Given the description of an element on the screen output the (x, y) to click on. 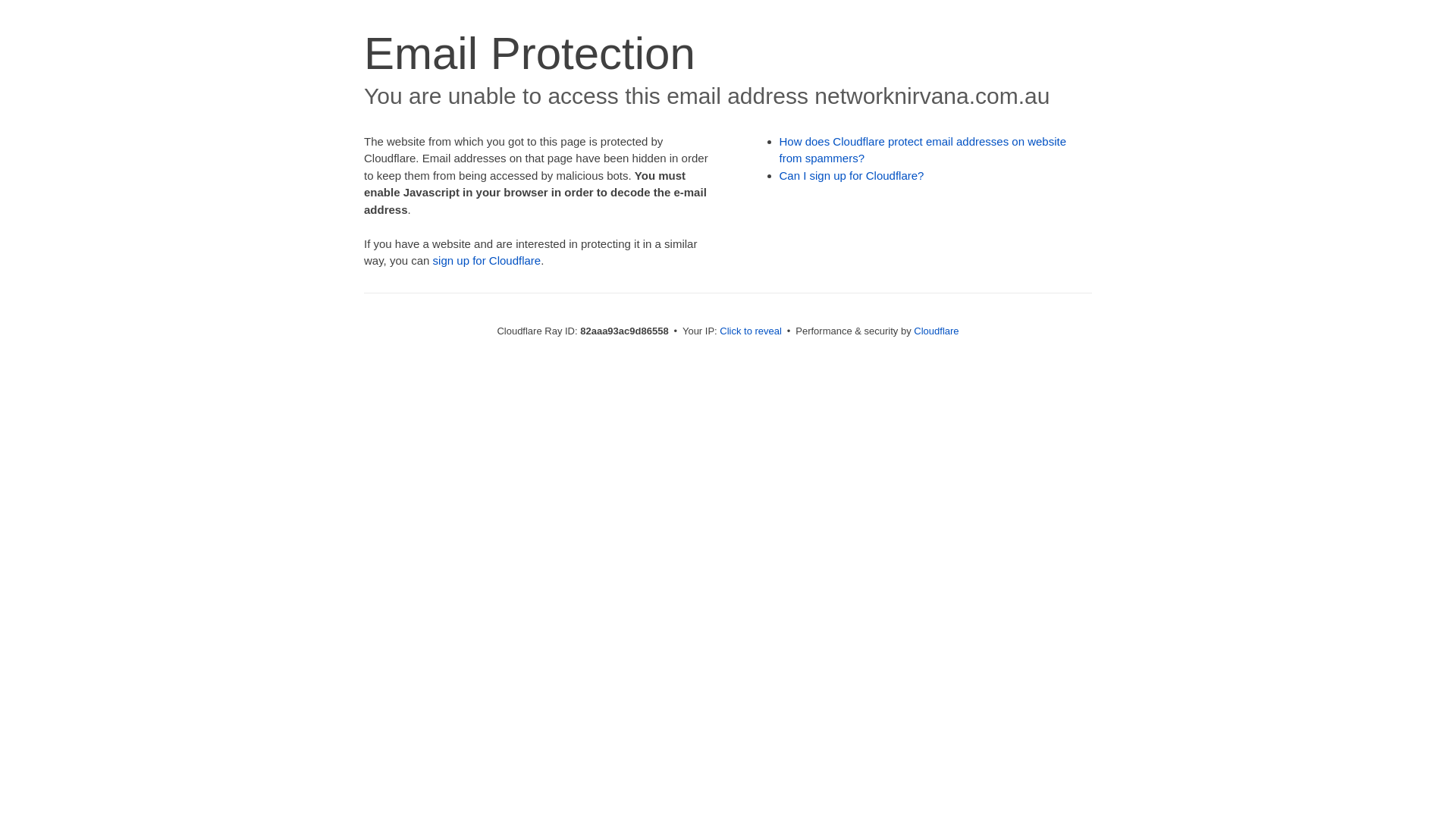
sign up for Cloudflare Element type: text (487, 260)
Cloudflare Element type: text (935, 330)
Click to reveal Element type: text (750, 330)
Can I sign up for Cloudflare? Element type: text (851, 175)
